Given the description of an element on the screen output the (x, y) to click on. 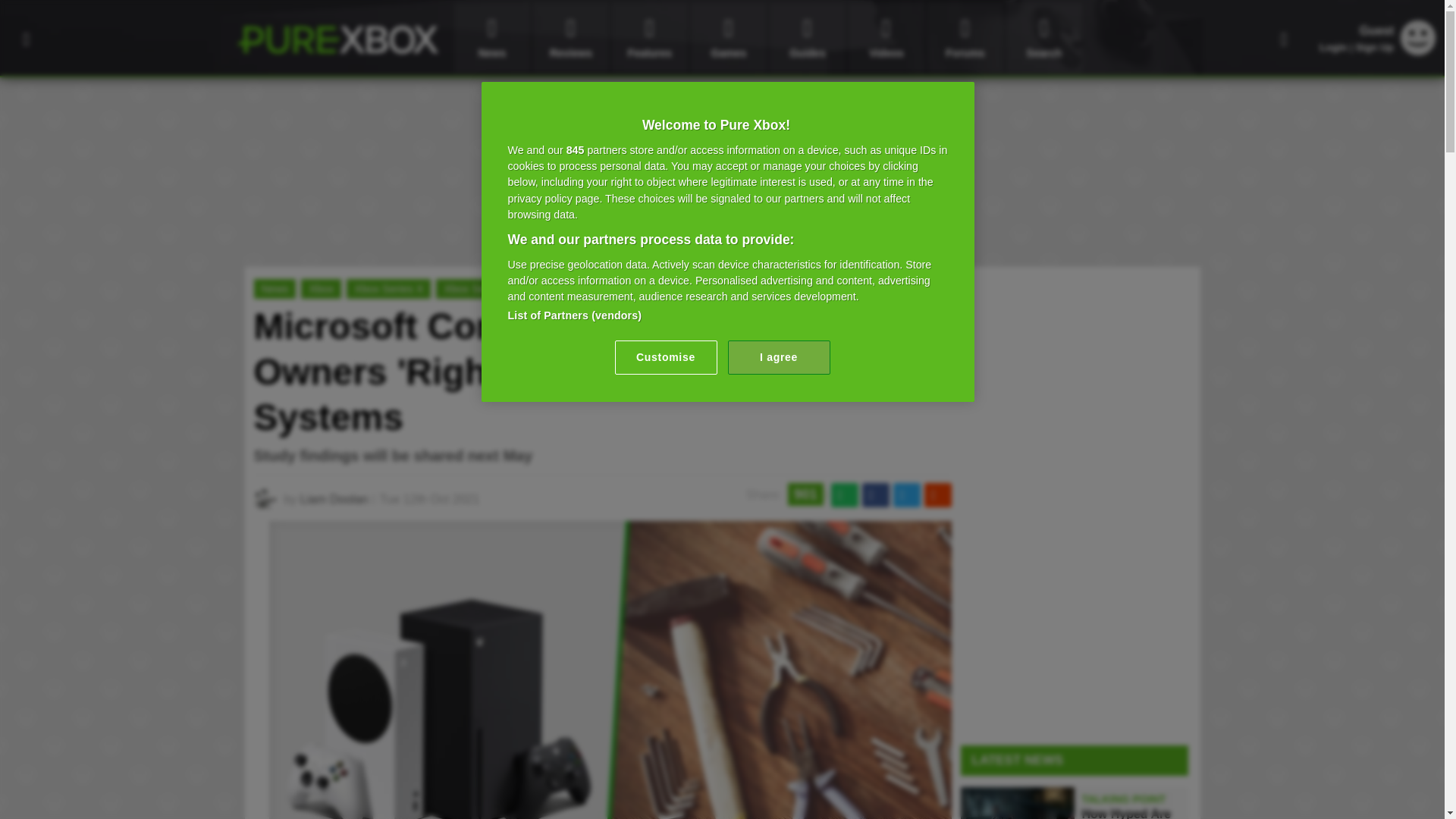
News (491, 37)
Forums (965, 37)
Share This Page (1283, 37)
Search (1043, 37)
Videos (886, 37)
Sign Up (1374, 47)
Guest (1417, 51)
Features (649, 37)
Reviews (570, 37)
Guest (1417, 37)
Games (728, 37)
Guides (807, 37)
Login (1332, 47)
Pure Xbox (336, 39)
Pure Xbox (336, 39)
